Given the description of an element on the screen output the (x, y) to click on. 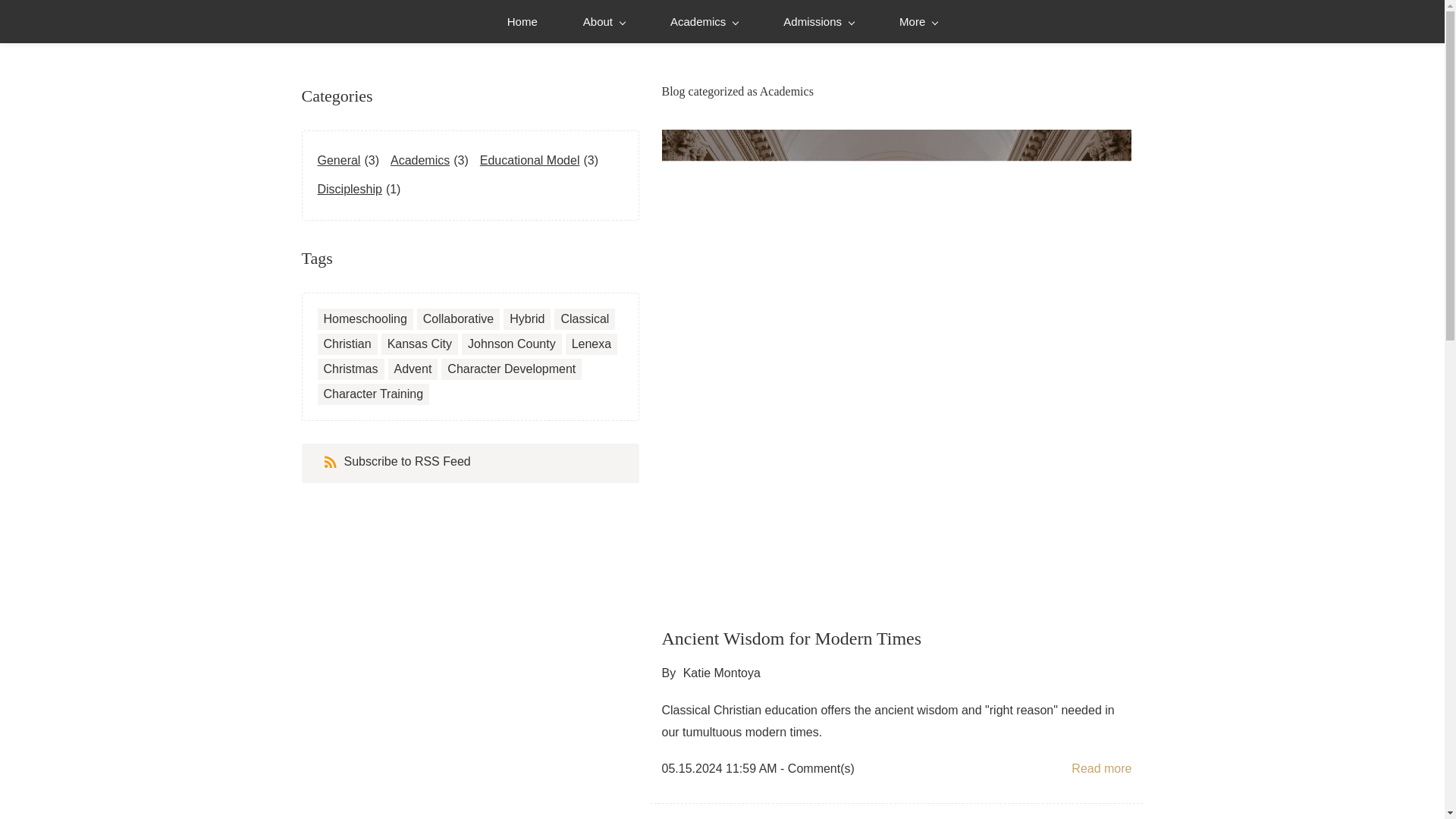
Admissions (818, 21)
Lenexa (591, 344)
General (340, 160)
Subscribe to RSS Feed (397, 462)
Collaborative (458, 318)
Kansas City (419, 344)
About (603, 21)
About (603, 21)
Character Development (510, 368)
Johnson County (511, 344)
Advent (413, 368)
Homeschooling (364, 318)
Character Training (373, 394)
Hybrid (526, 318)
Academics (703, 21)
